Given the description of an element on the screen output the (x, y) to click on. 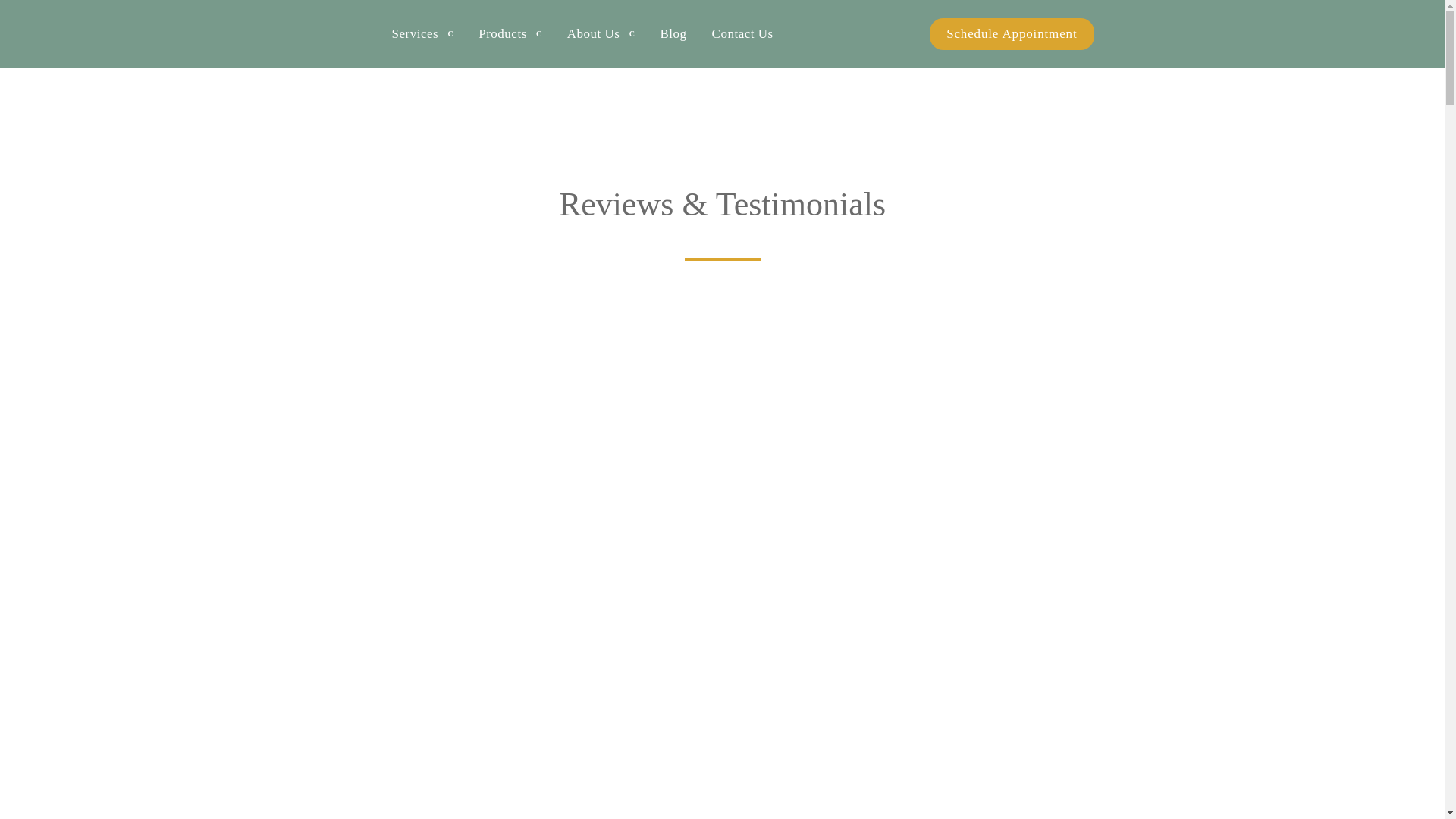
Contact Us (742, 34)
Schedule Appointment (1011, 34)
Products (510, 34)
Services (421, 34)
About Us (600, 34)
